Given the description of an element on the screen output the (x, y) to click on. 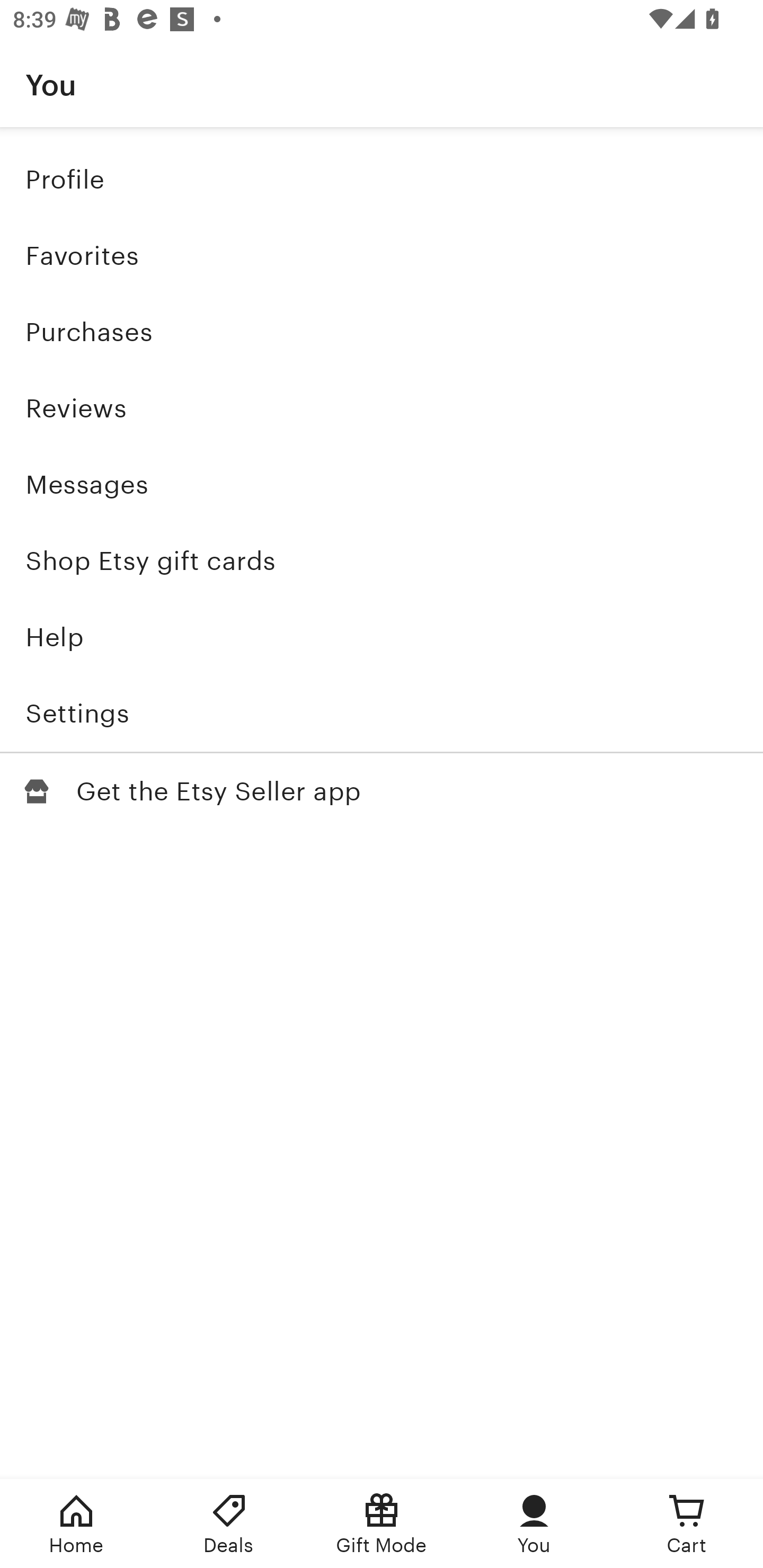
Profile (381, 179)
Favorites (381, 255)
Purchases (381, 332)
Reviews (381, 408)
Messages (381, 484)
Shop Etsy gift cards (381, 560)
Help (381, 636)
Settings (381, 713)
Get the Etsy Seller app (381, 790)
Home (76, 1523)
Deals (228, 1523)
Gift Mode (381, 1523)
Cart (686, 1523)
